Given the description of an element on the screen output the (x, y) to click on. 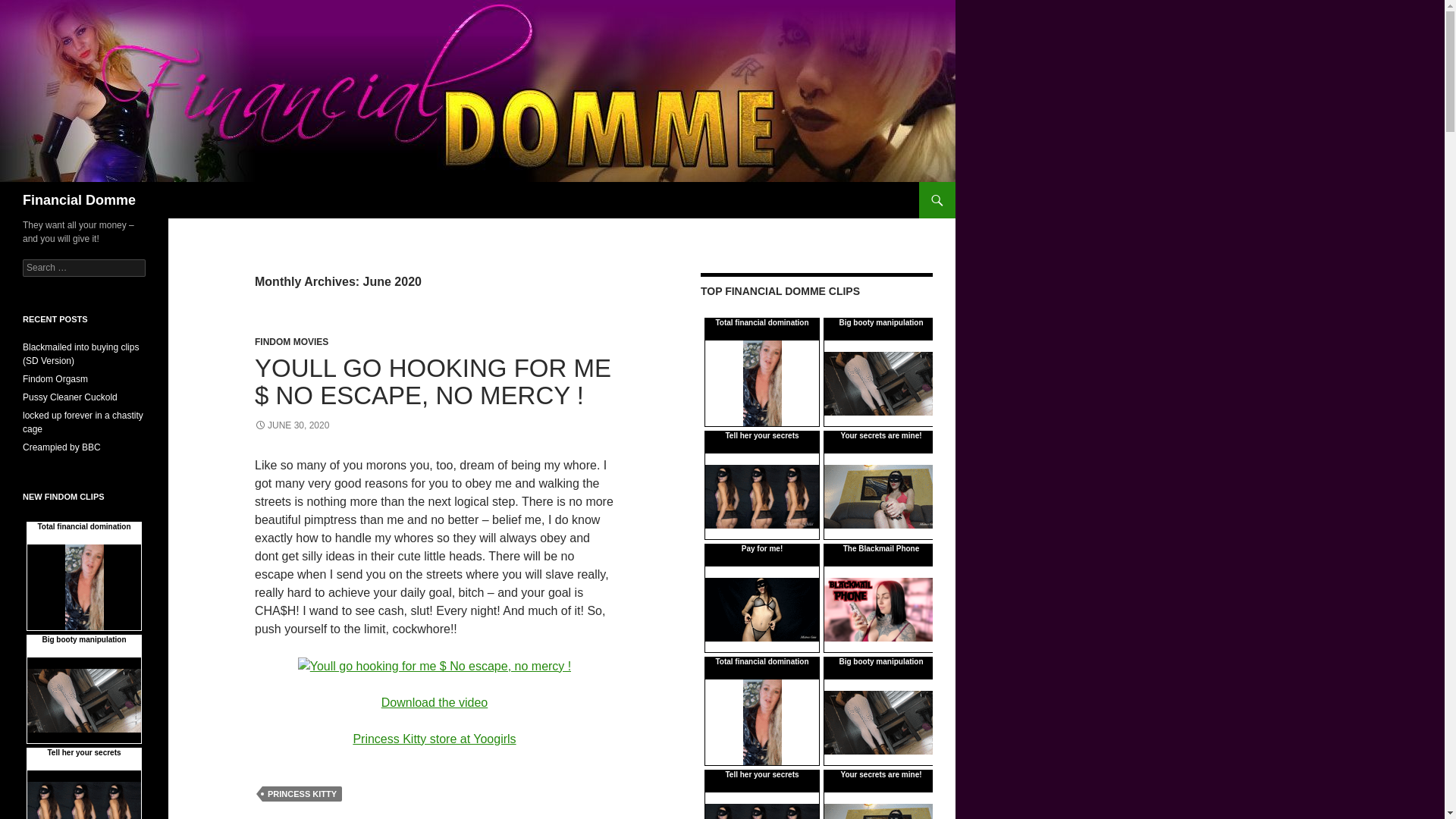
JUNE 30, 2020 (291, 425)
Princess Kitty store at Yoogirls (433, 738)
Download the video (434, 702)
FINDOM MOVIES (291, 341)
Financial Domme (79, 199)
PRINCESS KITTY (302, 793)
